Given the description of an element on the screen output the (x, y) to click on. 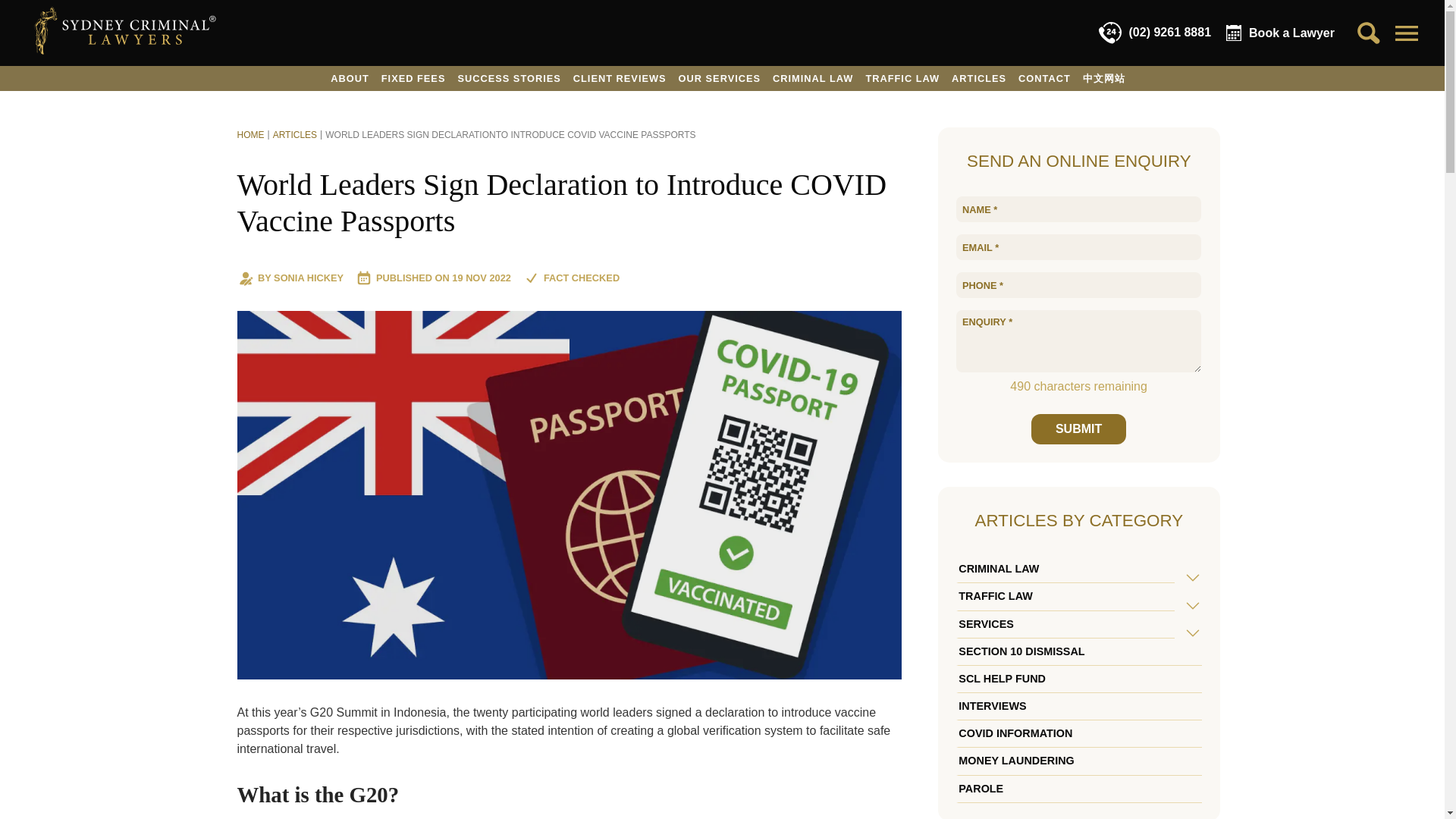
ARTICLES (977, 78)
OUR SERVICES (719, 78)
CLIENT REVIEWS (619, 78)
SONIA HICKEY (308, 277)
FIXED FEES (413, 78)
Book a Lawyer (1280, 33)
SUCCESS STORIES (508, 78)
Articles by Sonia Hickey (308, 277)
Published (481, 277)
Home (249, 134)
